Given the description of an element on the screen output the (x, y) to click on. 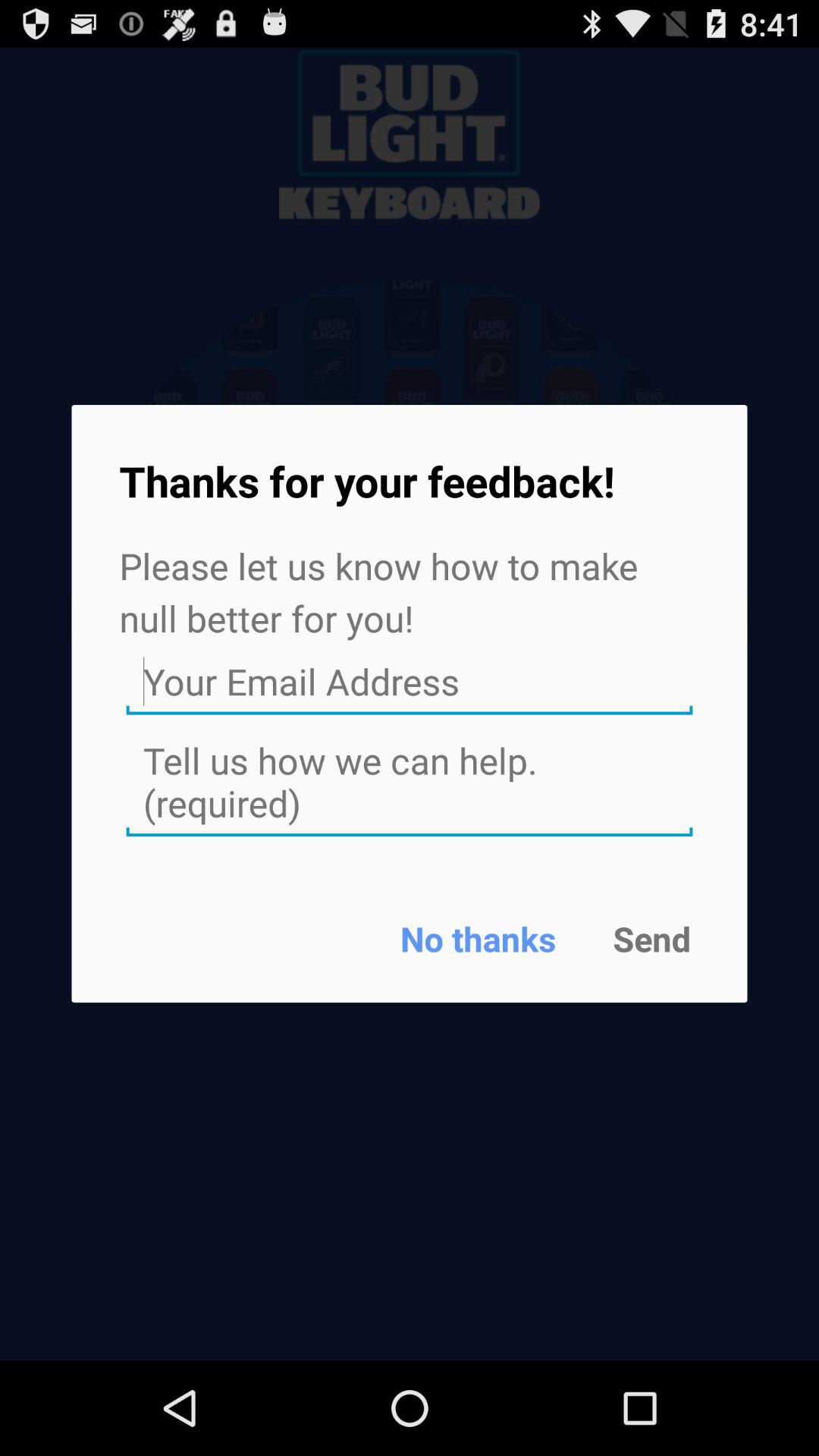
shows help icon (409, 782)
